Given the description of an element on the screen output the (x, y) to click on. 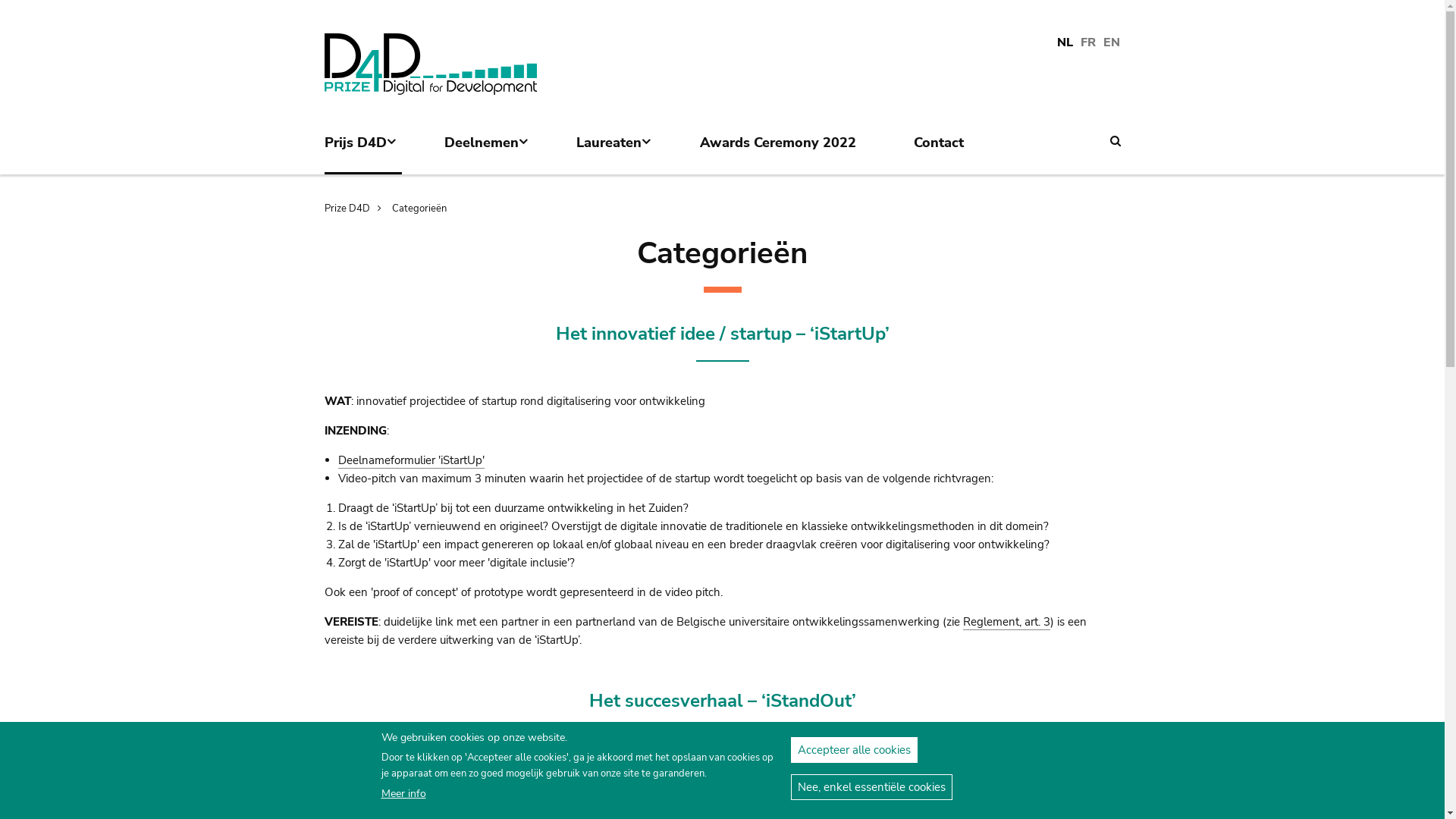
EN Element type: text (1111, 43)
FR Element type: text (1087, 43)
Accepteer alle cookies Element type: text (853, 749)
Reglement, art. 3 Element type: text (1006, 622)
Awards Ceremony 2022 Element type: text (785, 151)
Contact Element type: text (946, 151)
Deelnameformulier 'iStartUp' Element type: text (411, 460)
Prize D4D Element type: text (356, 208)
Meer info Element type: text (402, 793)
Search Element type: text (1115, 140)
Skip to main content Element type: text (0, 18)
NL Element type: text (1065, 43)
